Given the description of an element on the screen output the (x, y) to click on. 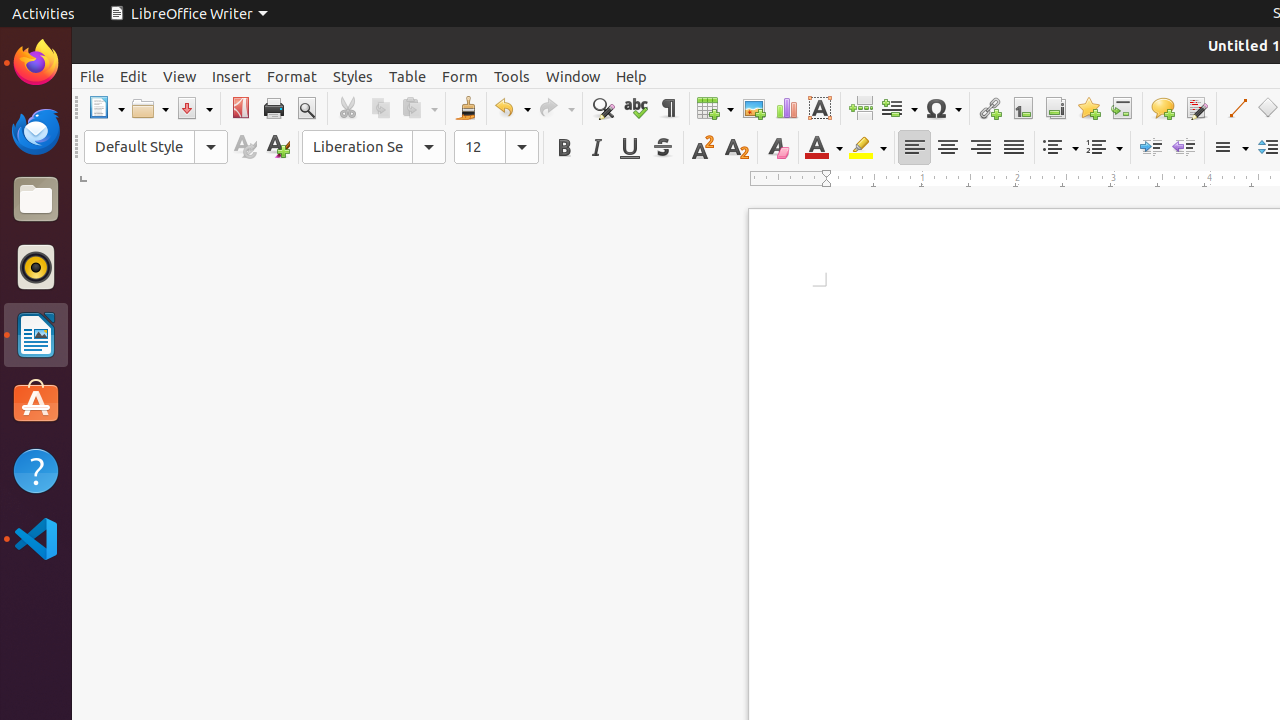
Redo Element type: push-button (556, 108)
Endnote Element type: push-button (1055, 108)
Form Element type: menu (460, 76)
PDF Element type: push-button (240, 108)
Cross-reference Element type: push-button (1121, 108)
